Given the description of an element on the screen output the (x, y) to click on. 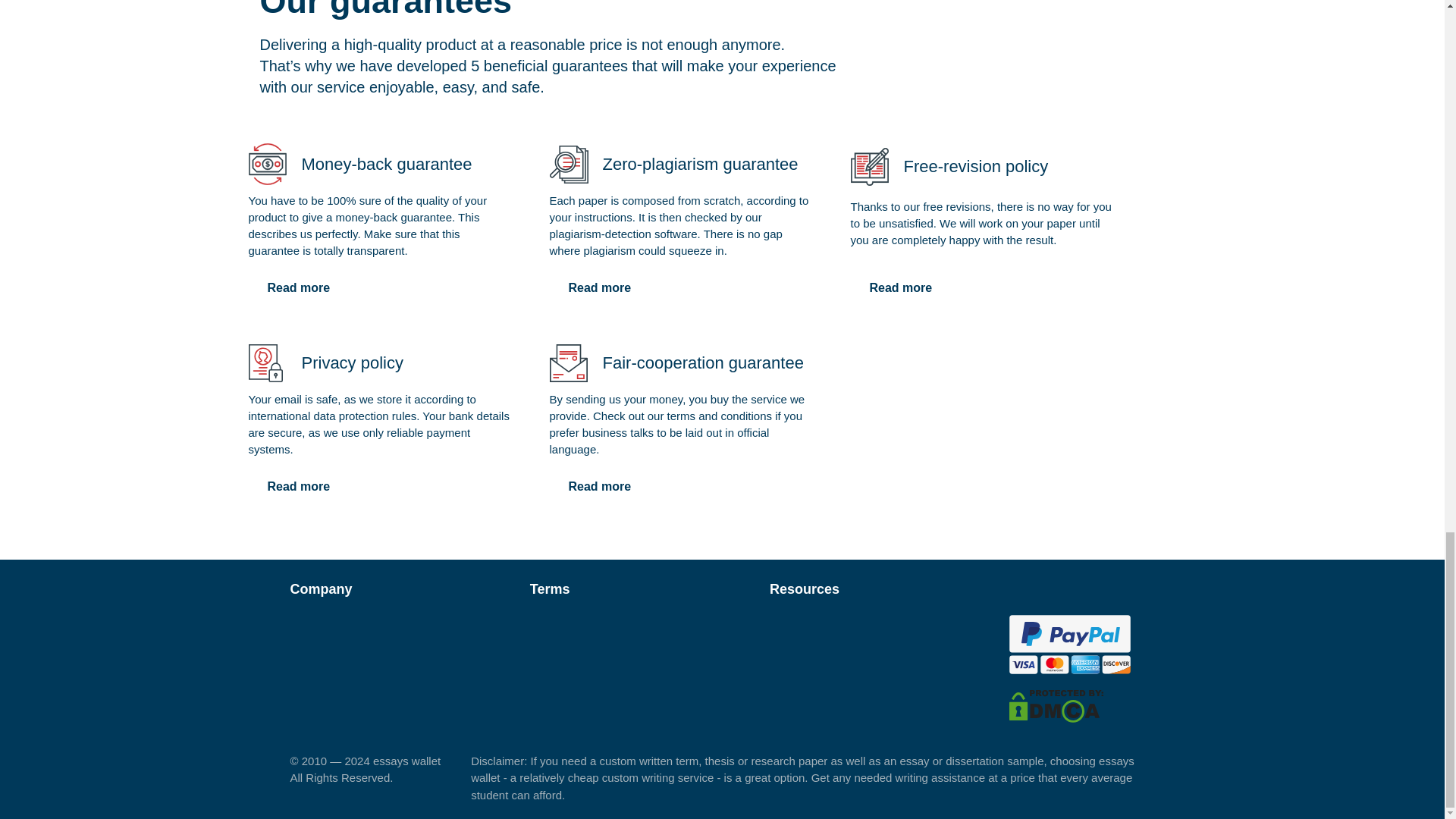
Read more (598, 486)
Read more (598, 287)
Read more (298, 287)
Read more (298, 486)
Read more (901, 287)
